Given the description of an element on the screen output the (x, y) to click on. 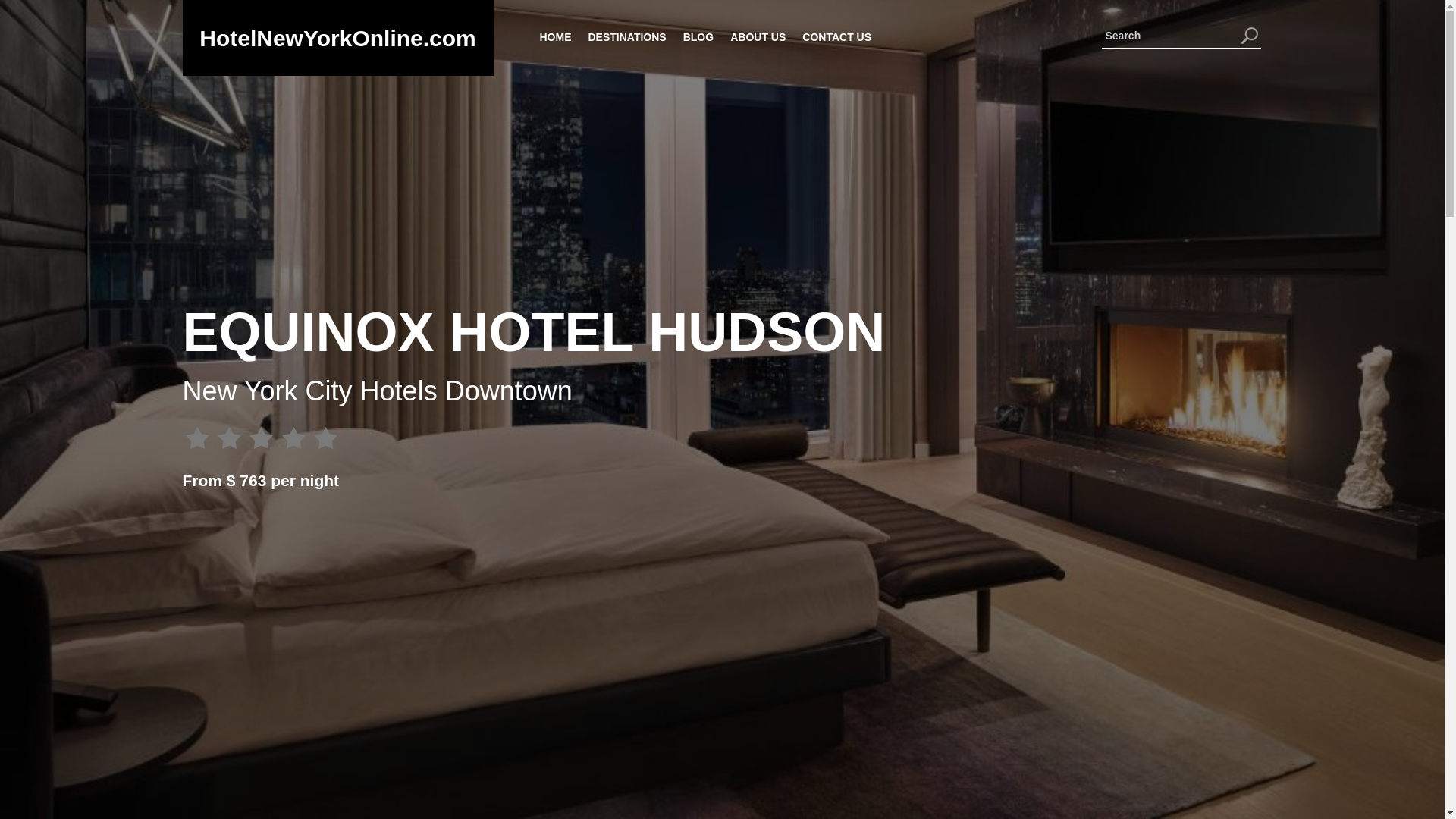
CONTACT US (834, 35)
HOME (555, 35)
Destinations (626, 35)
BLOG (698, 35)
ABOUT US (757, 35)
Contact Us (834, 35)
Home (555, 35)
About Us (757, 35)
DESTINATIONS (626, 35)
Blog (698, 35)
